Given the description of an element on the screen output the (x, y) to click on. 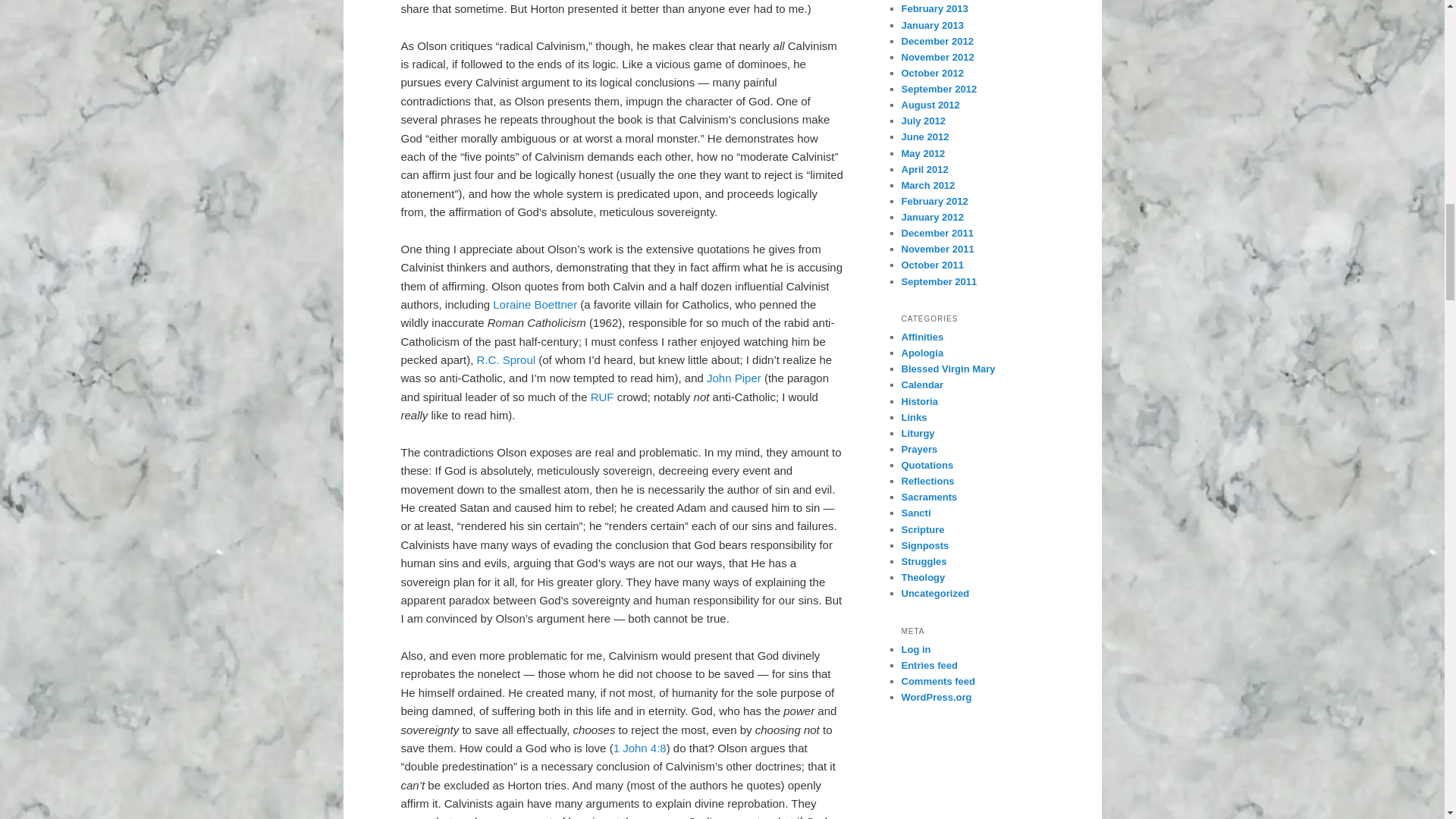
Loraine Boettner (534, 304)
John Piper (733, 377)
R.C. Sproul (506, 359)
RUF (602, 396)
1 John 4:8 (639, 748)
